Given the description of an element on the screen output the (x, y) to click on. 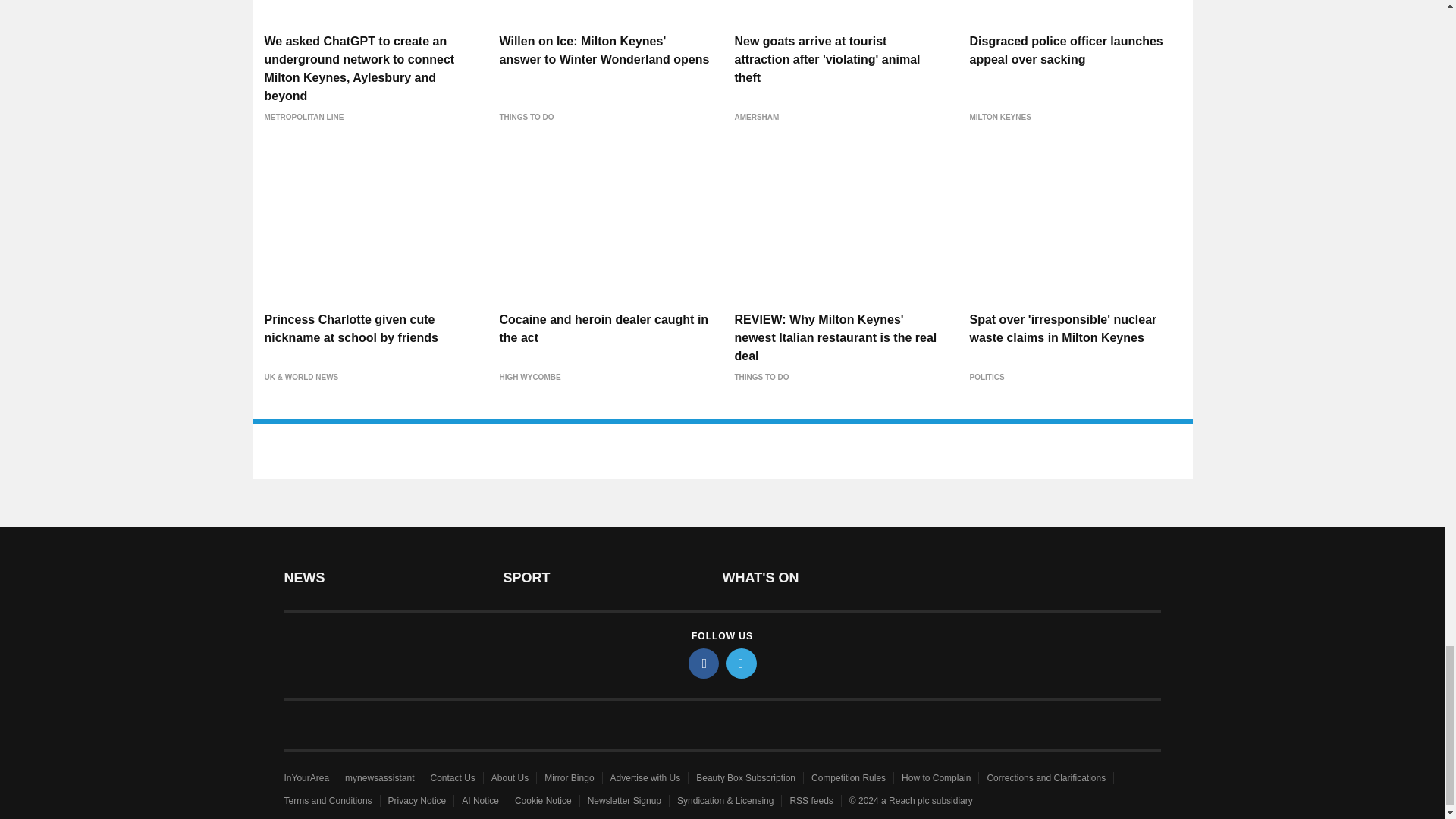
twitter (741, 663)
facebook (703, 663)
